Given the description of an element on the screen output the (x, y) to click on. 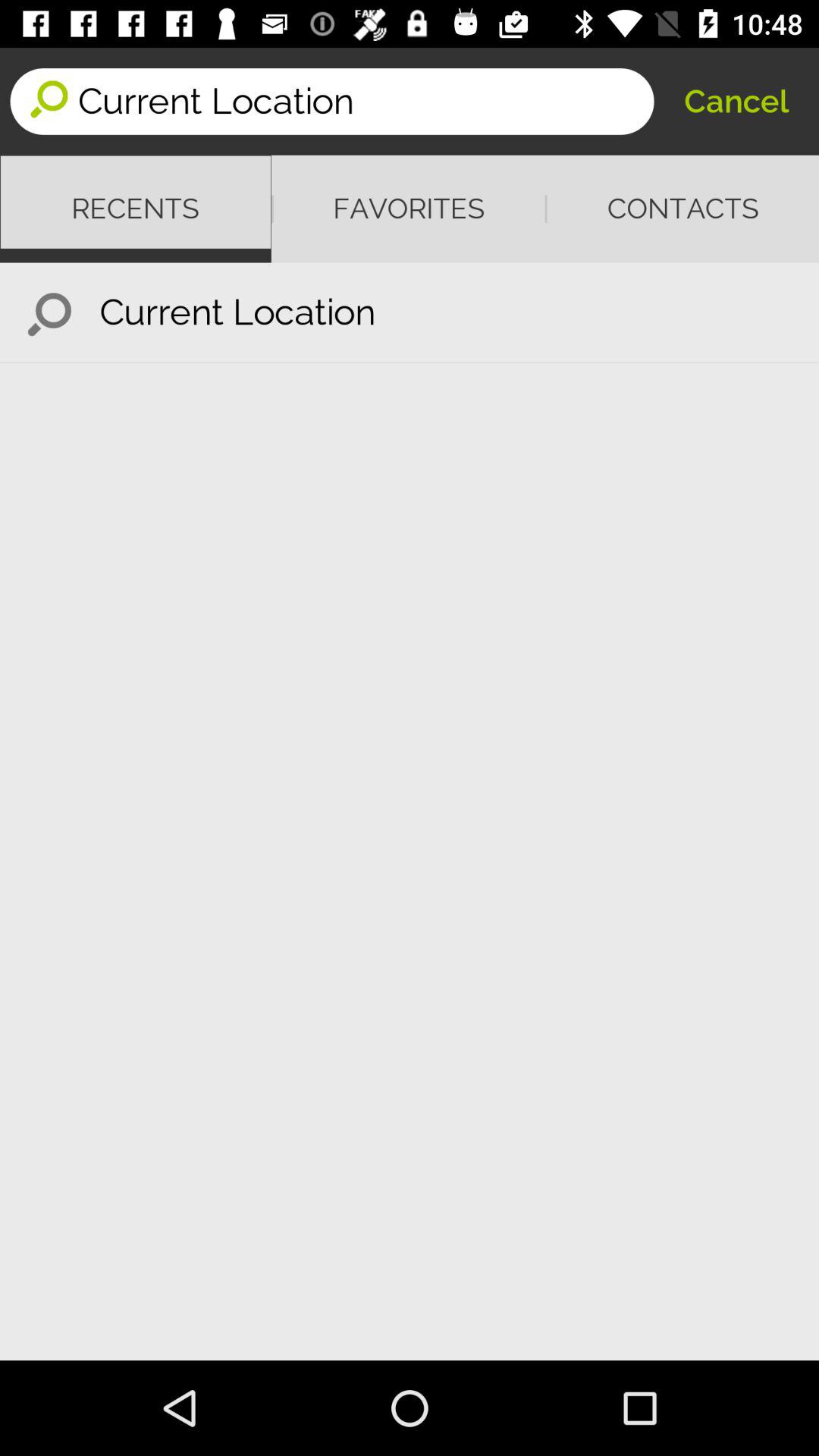
turn on the icon to the right of the current location icon (736, 101)
